Given the description of an element on the screen output the (x, y) to click on. 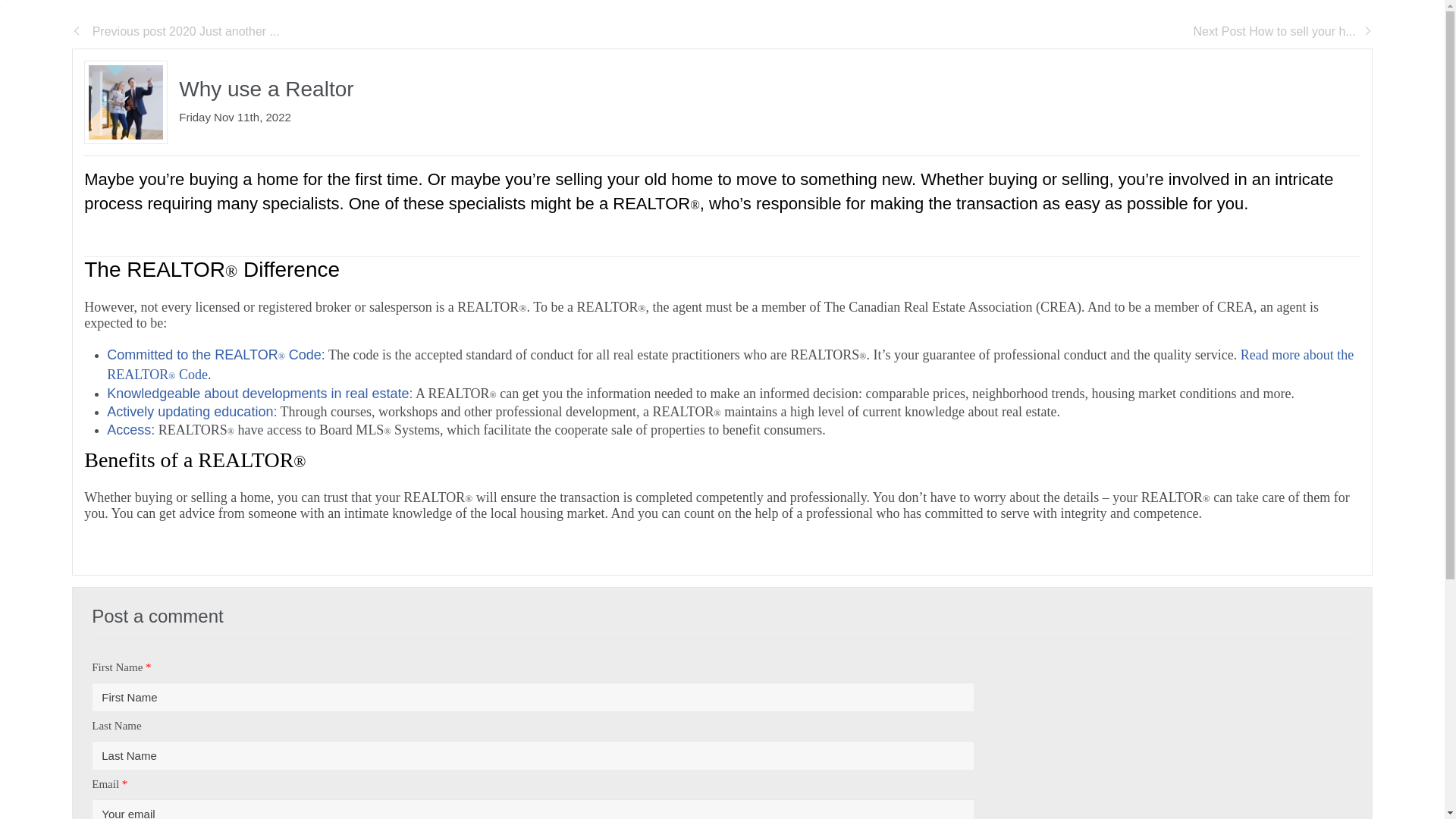
Previous post 2020 Just another ... (175, 31)
Next Post How to sell your h... (1281, 31)
